Given the description of an element on the screen output the (x, y) to click on. 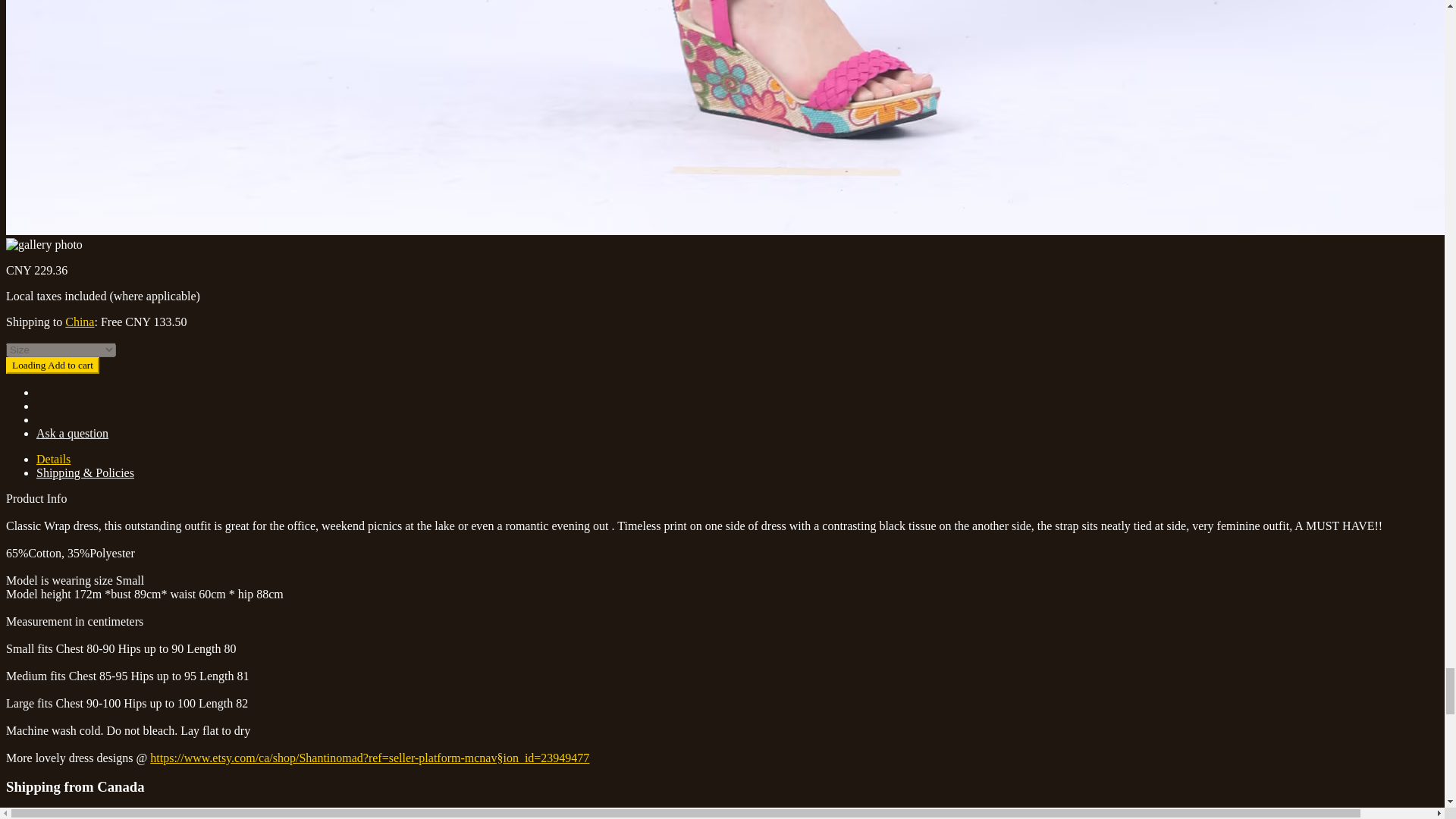
Ask a question (71, 432)
China (79, 321)
Details (52, 459)
Loading Add to cart (52, 365)
